Given the description of an element on the screen output the (x, y) to click on. 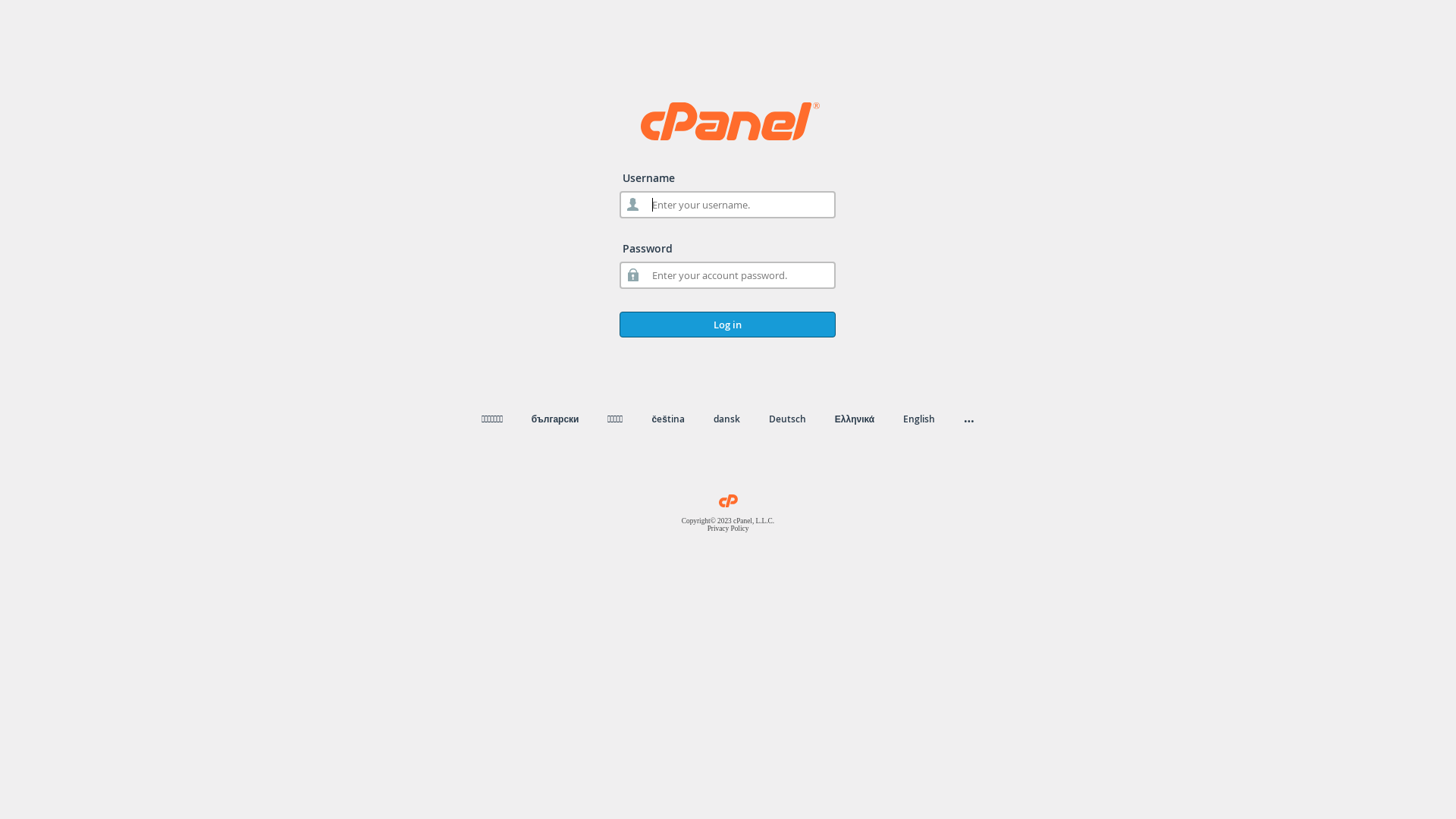
Privacy Policy Element type: text (728, 528)
Log in Element type: text (727, 324)
English Element type: text (919, 418)
dansk Element type: text (726, 418)
Deutsch Element type: text (787, 418)
